Given the description of an element on the screen output the (x, y) to click on. 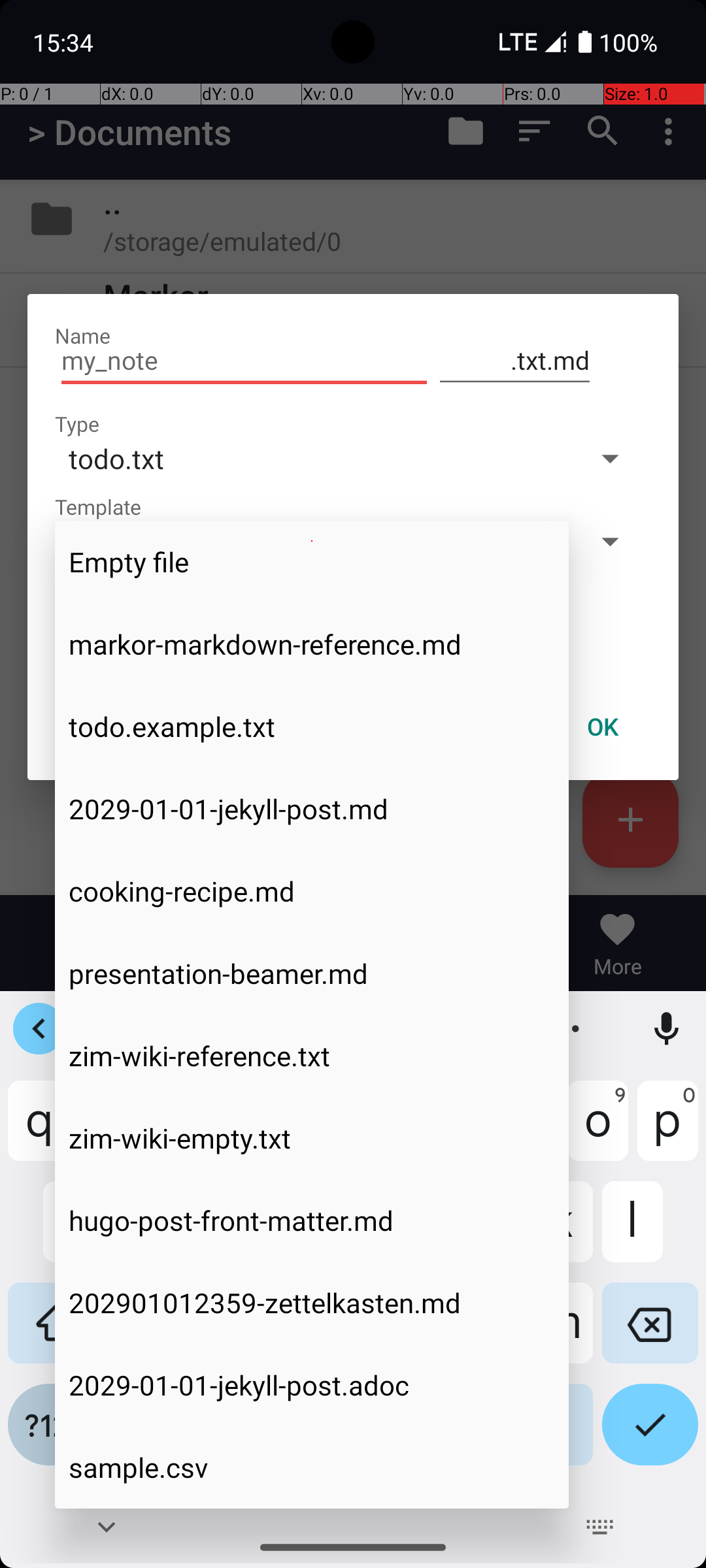
markor-markdown-reference.md Element type: android.widget.CheckedTextView (311, 644)
todo.example.txt Element type: android.widget.CheckedTextView (311, 726)
2029-01-01-jekyll-post.md Element type: android.widget.CheckedTextView (311, 808)
cooking-recipe.md Element type: android.widget.CheckedTextView (311, 890)
presentation-beamer.md Element type: android.widget.CheckedTextView (311, 973)
zim-wiki-reference.txt Element type: android.widget.CheckedTextView (311, 1055)
zim-wiki-empty.txt Element type: android.widget.CheckedTextView (311, 1137)
hugo-post-front-matter.md Element type: android.widget.CheckedTextView (311, 1220)
202901012359-zettelkasten.md Element type: android.widget.CheckedTextView (311, 1302)
2029-01-01-jekyll-post.adoc Element type: android.widget.CheckedTextView (311, 1384)
sample.csv Element type: android.widget.CheckedTextView (311, 1467)
